Given the description of an element on the screen output the (x, y) to click on. 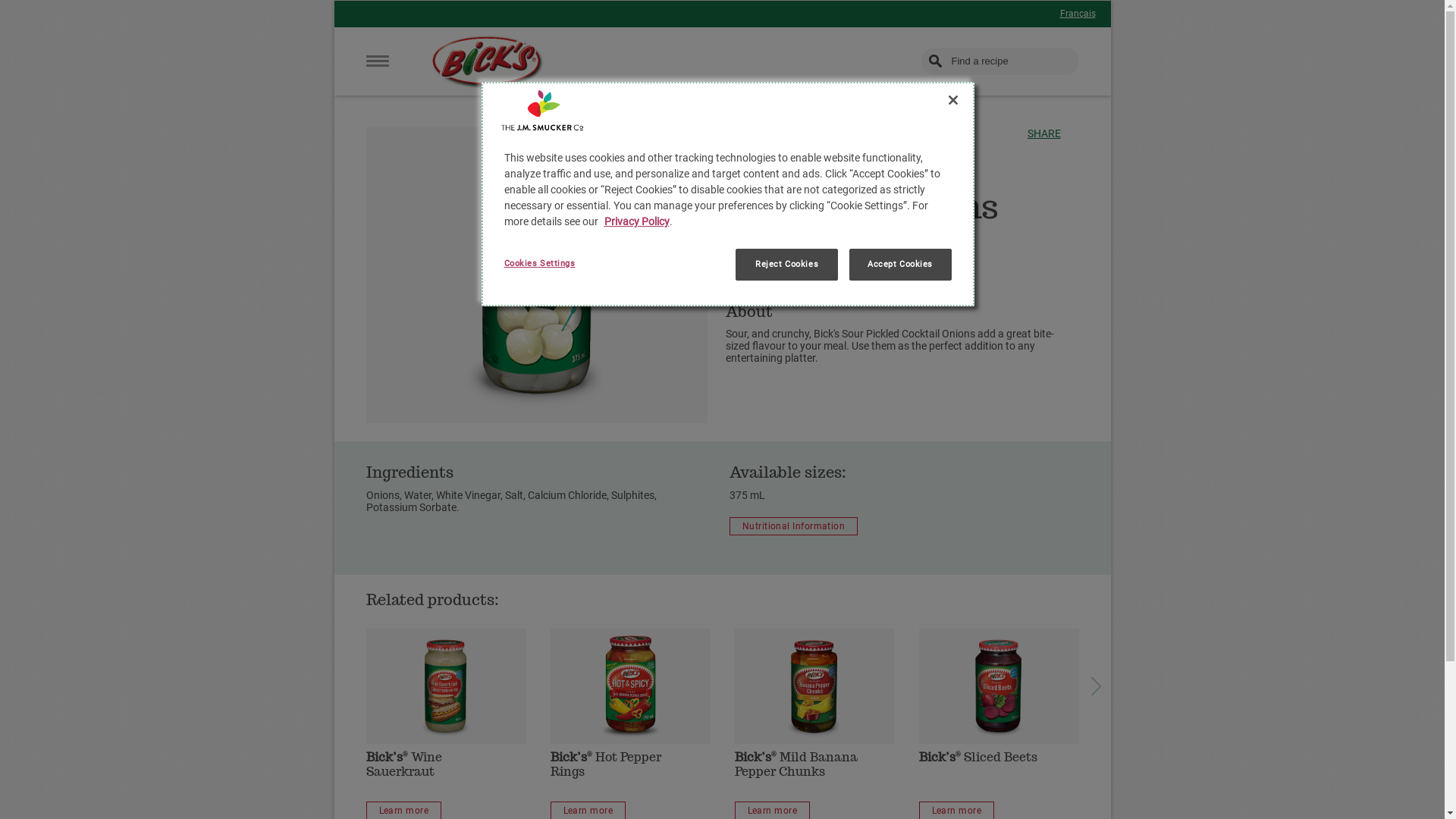
Nutritional Information Element type: text (793, 526)
Home Element type: hover (487, 62)
Privacy Policy Element type: text (635, 221)
Buy Now Element type: text (758, 259)
SHARE Element type: text (1043, 133)
Reject Cookies Element type: text (786, 264)
PRODUCTS Element type: text (752, 133)
Cookies Settings Element type: text (554, 263)
Accept Cookies Element type: text (900, 264)
next Element type: hover (1095, 685)
Company Logo Element type: hover (541, 110)
SPECIALTIES Element type: text (829, 133)
Menu Element type: hover (376, 60)
